Given the description of an element on the screen output the (x, y) to click on. 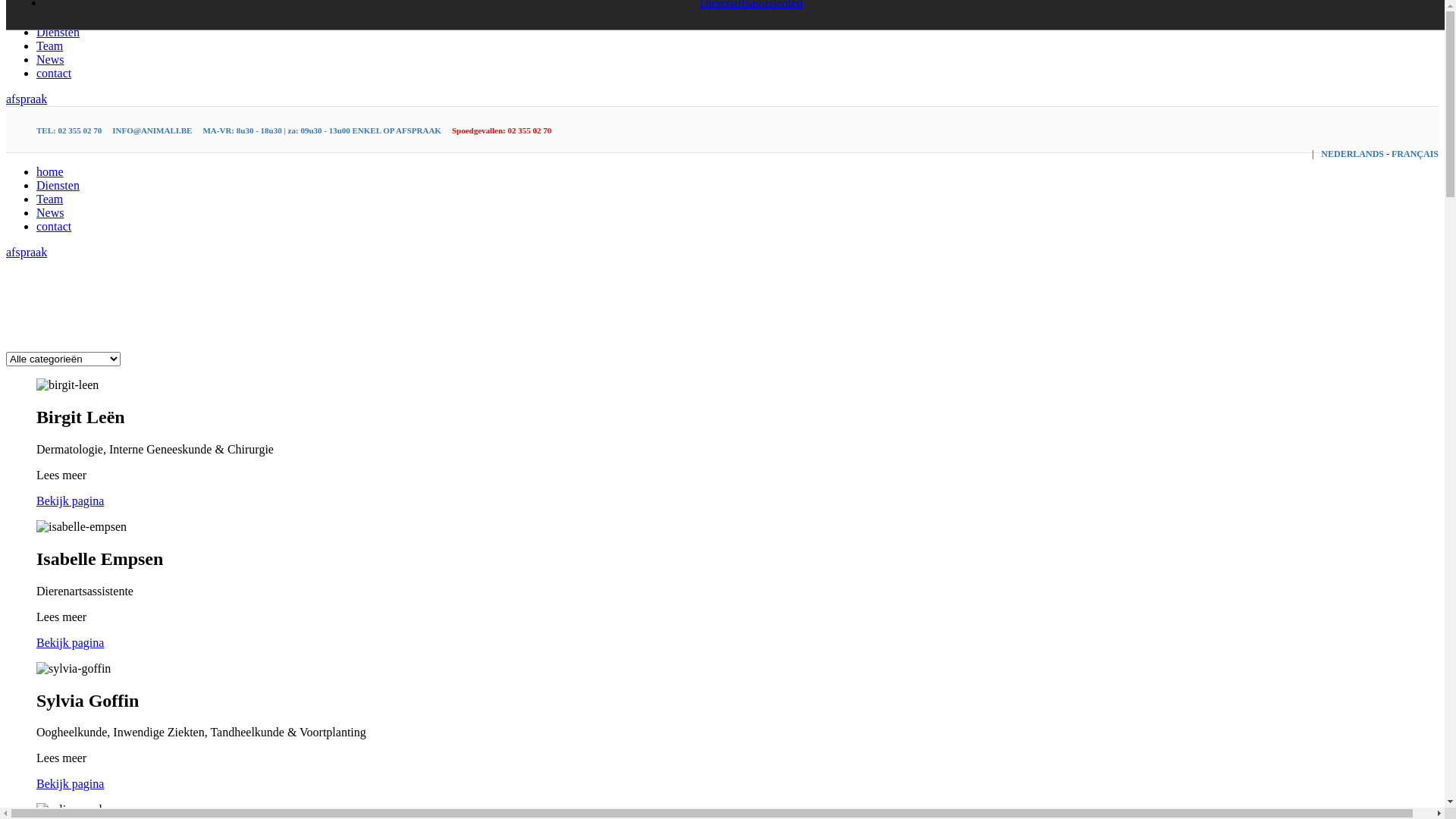
home Element type: text (49, 171)
Diensten Element type: text (57, 31)
home Element type: text (49, 18)
News Element type: text (49, 212)
Bekijk pagina Element type: text (69, 642)
contact Element type: text (53, 225)
Bekijk pagina Element type: text (69, 783)
Diensten Element type: text (57, 184)
Bekijk pagina Element type: text (69, 500)
News Element type: text (49, 59)
contact Element type: text (53, 72)
NEDERLANDS Element type: text (1352, 153)
Team Element type: text (49, 198)
INFO@ANIMALI.BE Element type: text (151, 129)
afspraak Element type: text (26, 251)
Team Element type: text (49, 45)
afspraak Element type: text (26, 98)
